Given the description of an element on the screen output the (x, y) to click on. 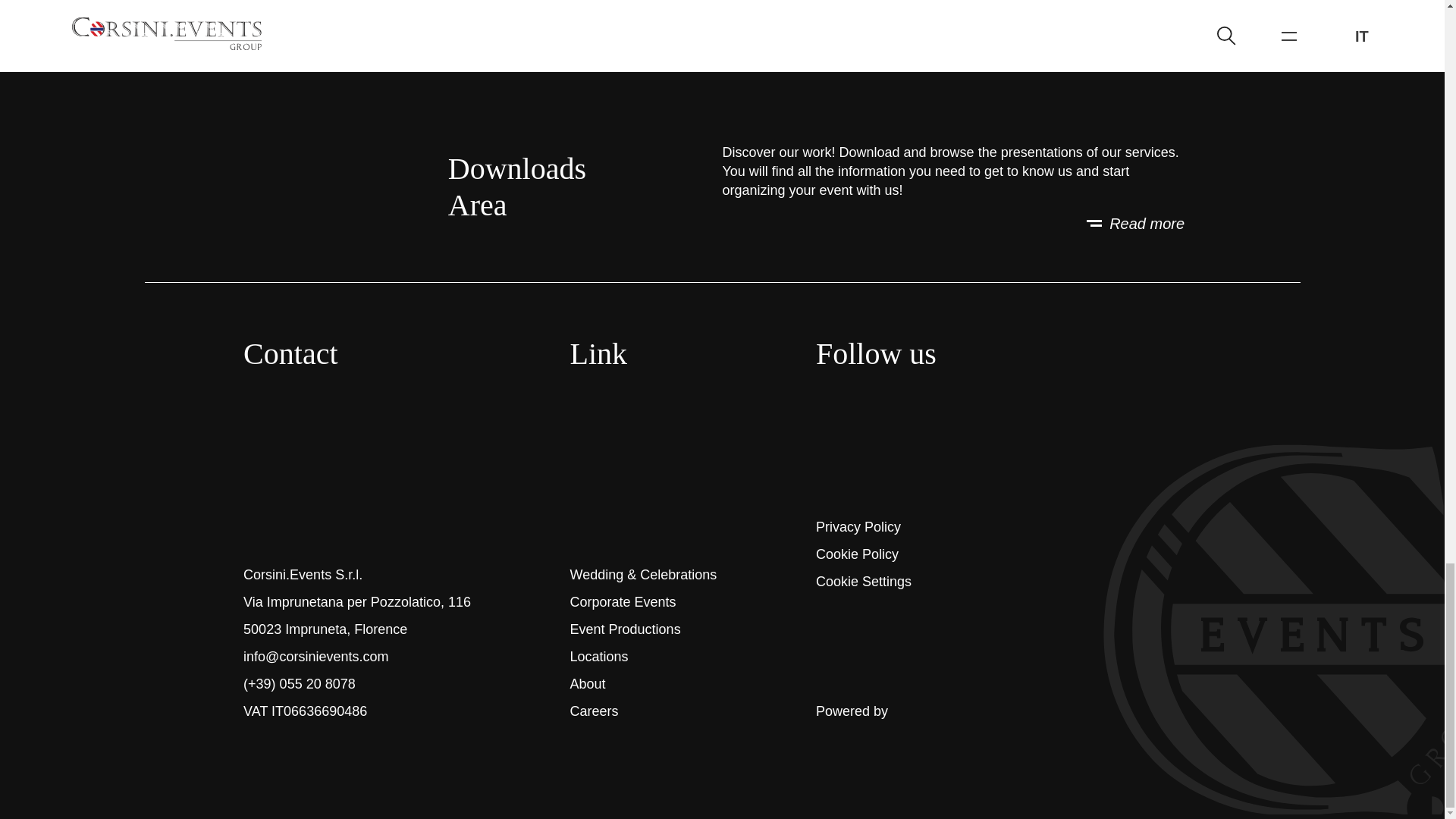
Privacy Policy (858, 526)
Cookie Policy (856, 554)
